Given the description of an element on the screen output the (x, y) to click on. 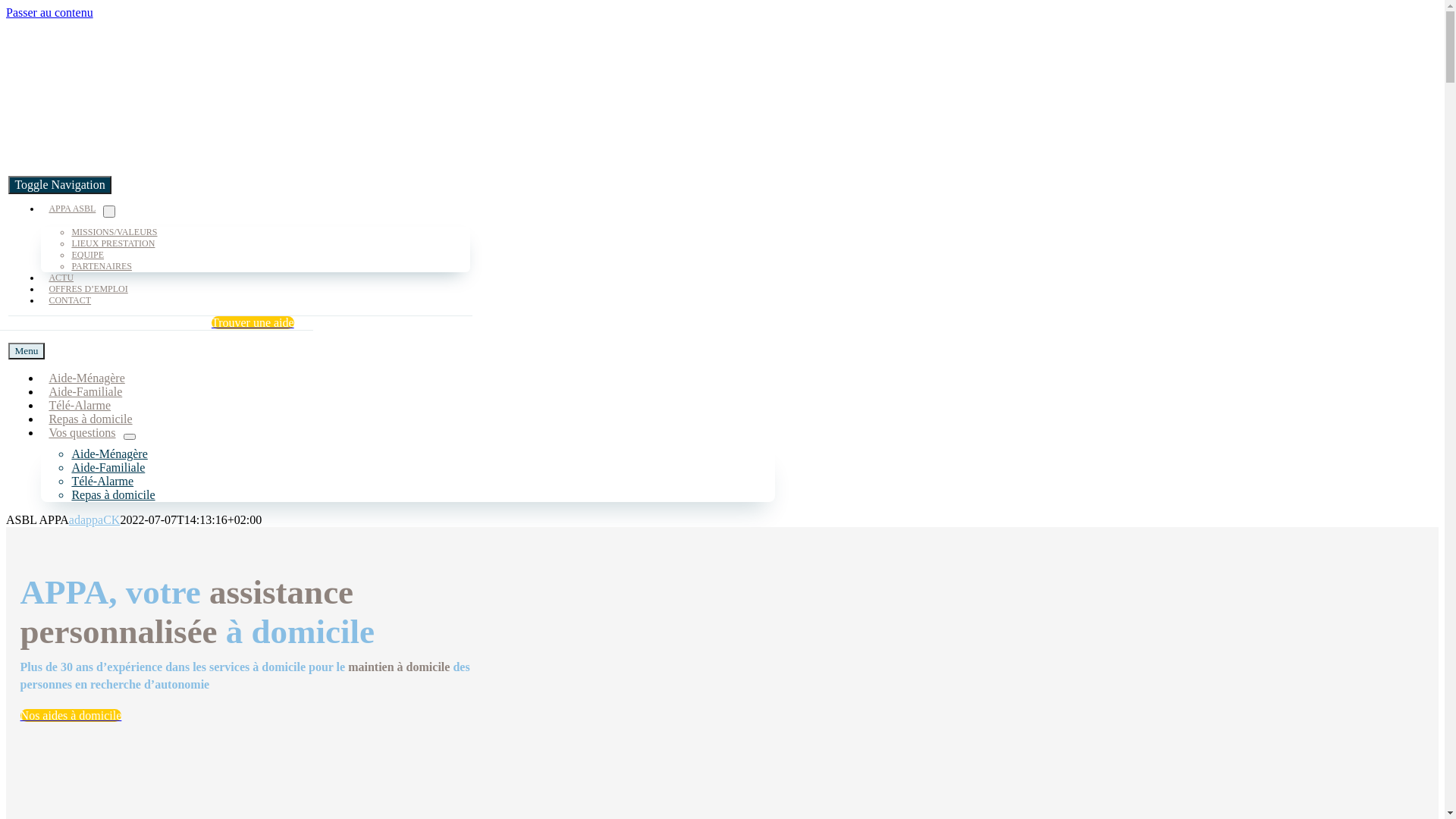
Vos questions Element type: text (81, 433)
PARTENAIRES Element type: text (101, 265)
Toggle Navigation Element type: text (59, 184)
CONTACT Element type: text (69, 300)
Aide-Familiale Element type: text (107, 469)
LIEUX PRESTATION Element type: text (112, 243)
Trouver une aide Element type: text (252, 322)
adappaCK Element type: text (94, 519)
ACTU Element type: text (60, 277)
Passer au contenu Element type: text (49, 12)
EQUIPE Element type: text (87, 254)
APPA ASBL Element type: text (71, 208)
MISSIONS/VALEURS Element type: text (113, 231)
Menu Element type: text (25, 350)
Aide-Familiale Element type: text (84, 392)
